Given the description of an element on the screen output the (x, y) to click on. 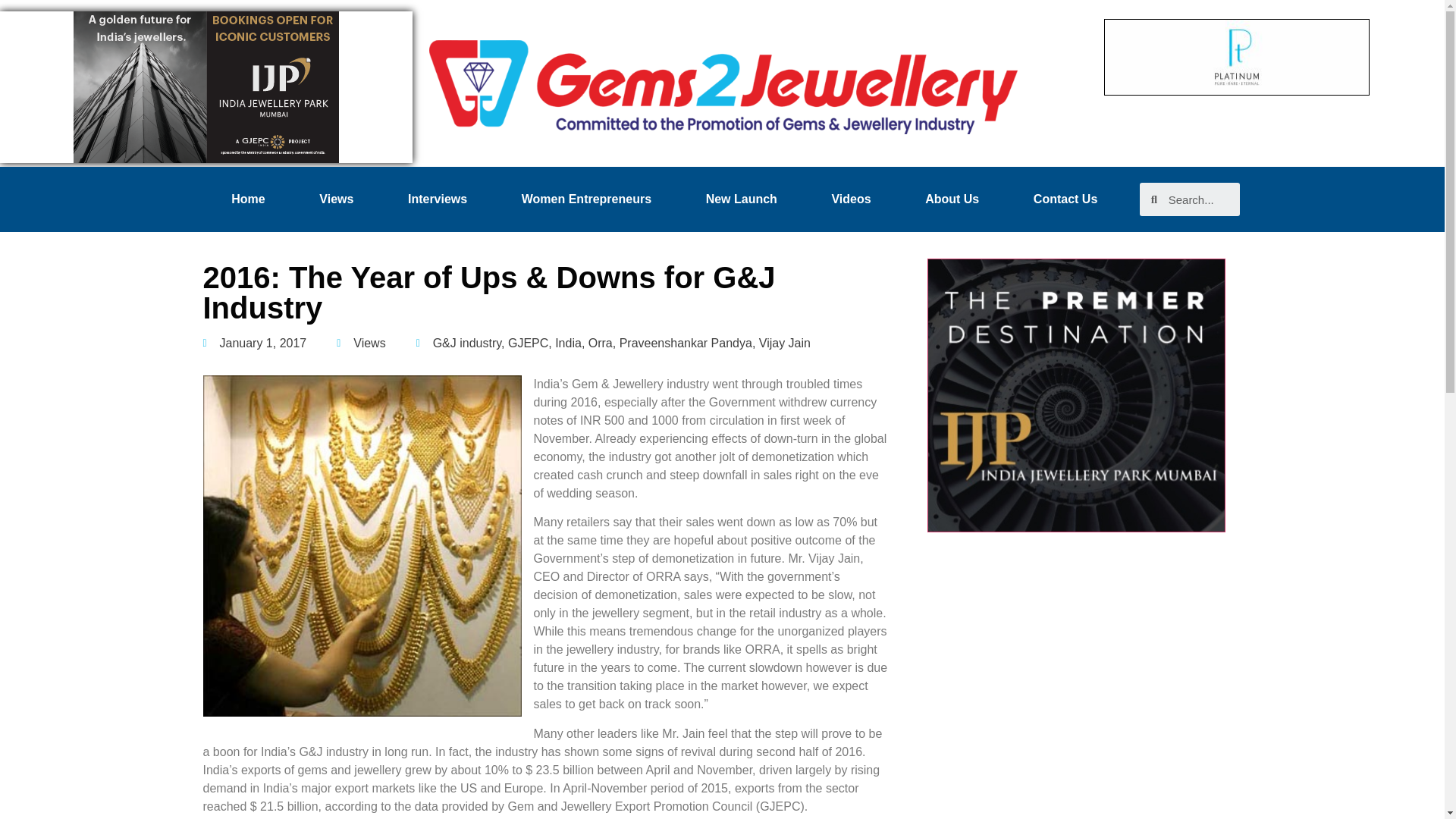
GJEPC (528, 342)
India (567, 342)
Orra (600, 342)
Videos (851, 199)
Interviews (437, 199)
New Launch (741, 199)
Home (248, 199)
Praveenshankar Pandya (686, 342)
About Us (952, 199)
Views (336, 199)
